Given the description of an element on the screen output the (x, y) to click on. 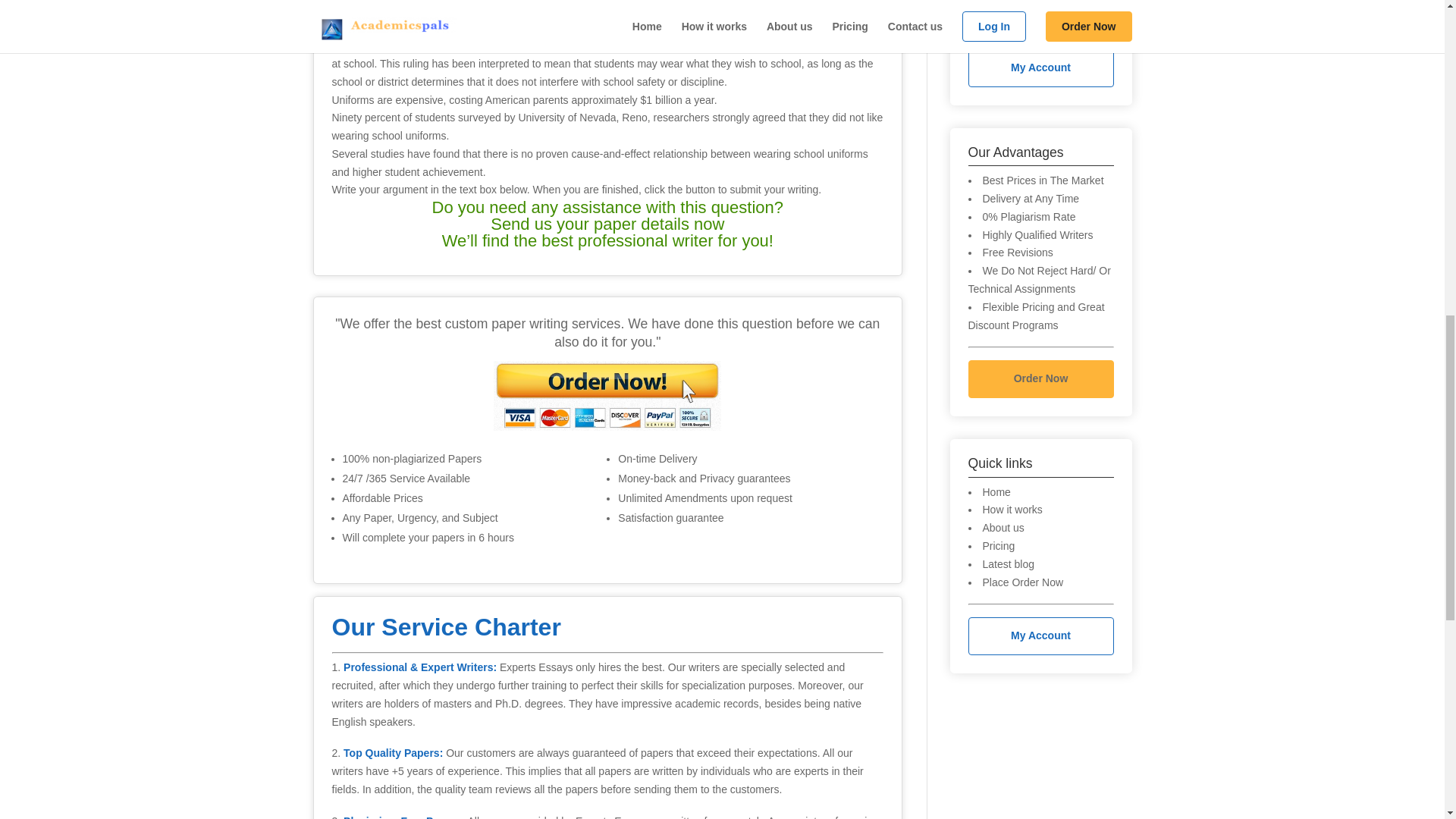
Home (996, 491)
Order Now (1040, 379)
My Account (1040, 636)
Place Order Now (1023, 582)
How it works (1012, 509)
About us (1003, 527)
My Account (1040, 67)
Pricing (998, 545)
Latest blog (1008, 563)
